Given the description of an element on the screen output the (x, y) to click on. 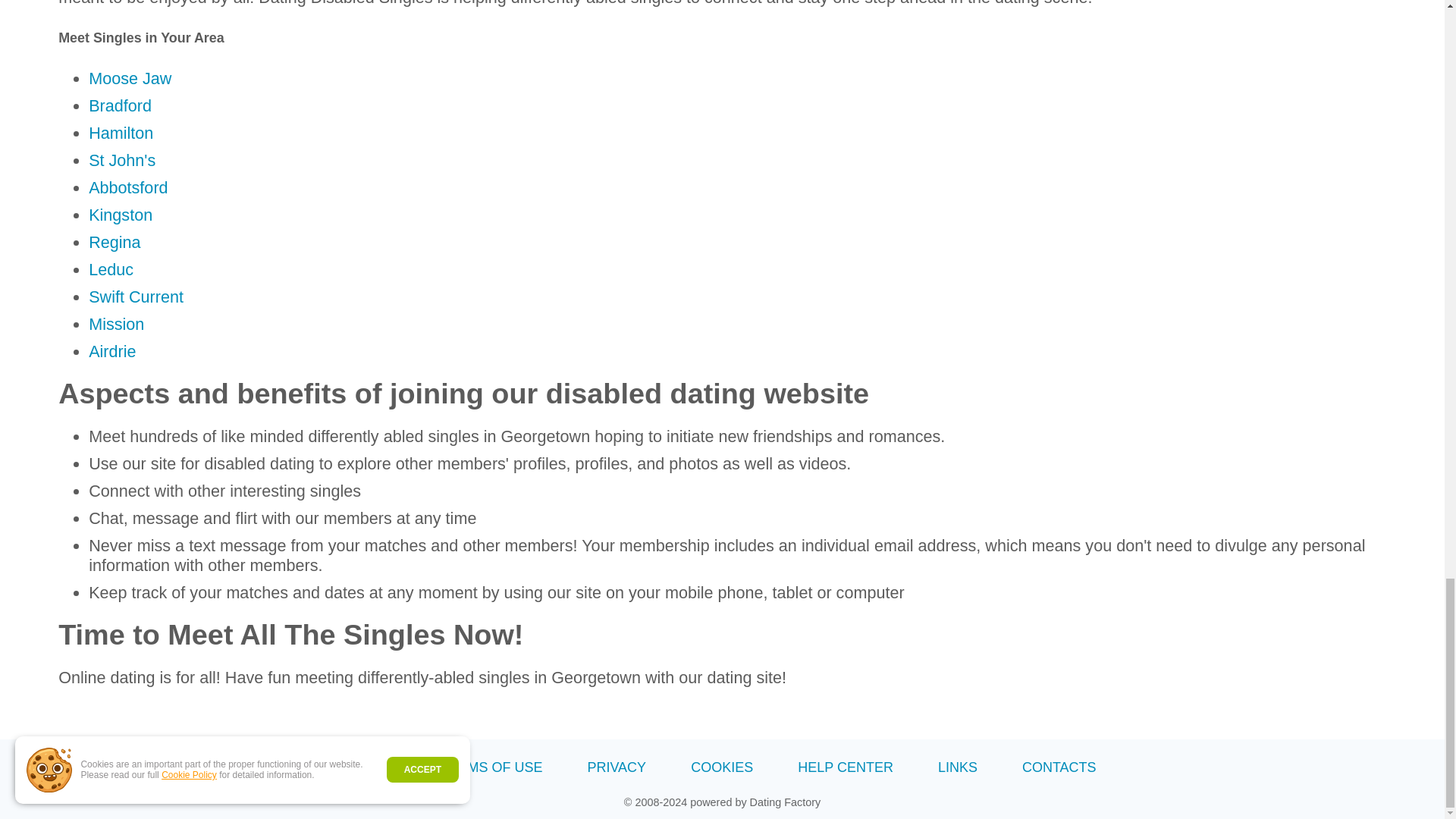
Disabled singles dating in Hamilton (120, 132)
Disabled singles dating in Abbotsford (127, 187)
Disabled singles dating in Regina (113, 241)
Moose Jaw (129, 77)
Disabled singles dating in Bradford (119, 105)
Bradford (119, 105)
Disabled singles dating in Swift Current (135, 296)
Disabled singles dating in Mission (116, 323)
St John's (121, 159)
Disabled singles dating in Leduc (110, 269)
